Given the description of an element on the screen output the (x, y) to click on. 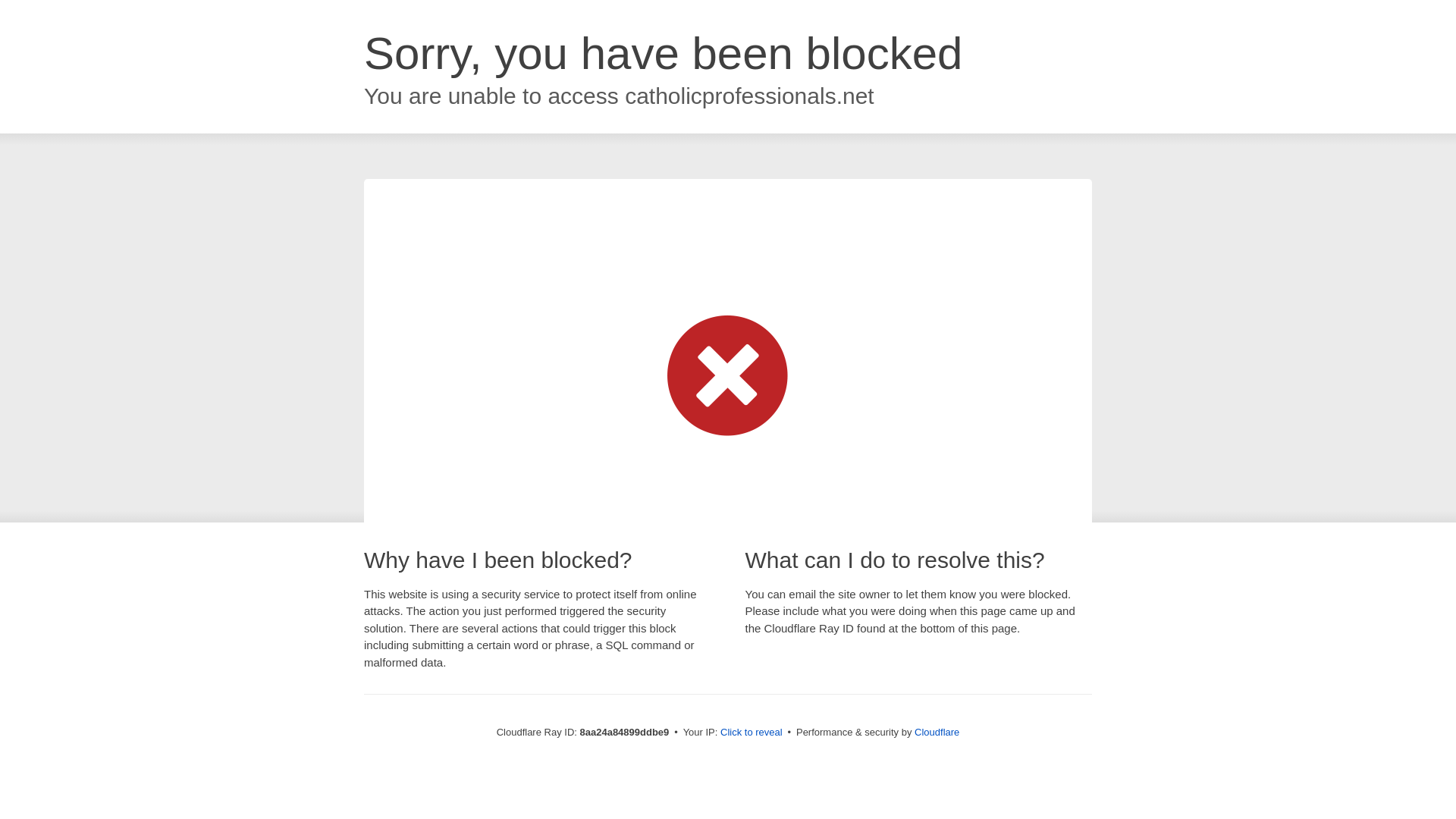
Cloudflare (936, 731)
Click to reveal (751, 732)
